Given the description of an element on the screen output the (x, y) to click on. 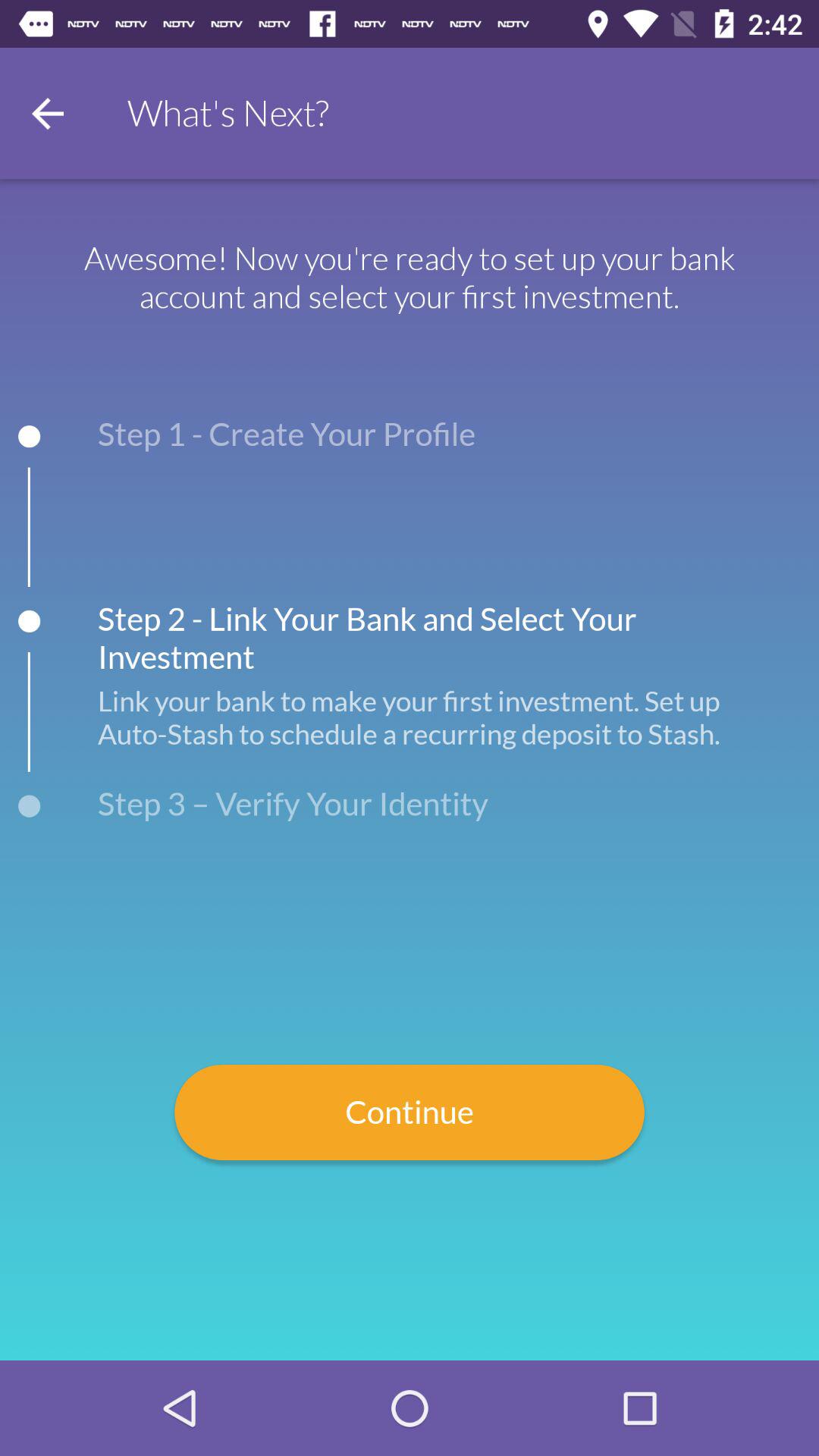
launch icon below the step 3 verify (409, 1112)
